Given the description of an element on the screen output the (x, y) to click on. 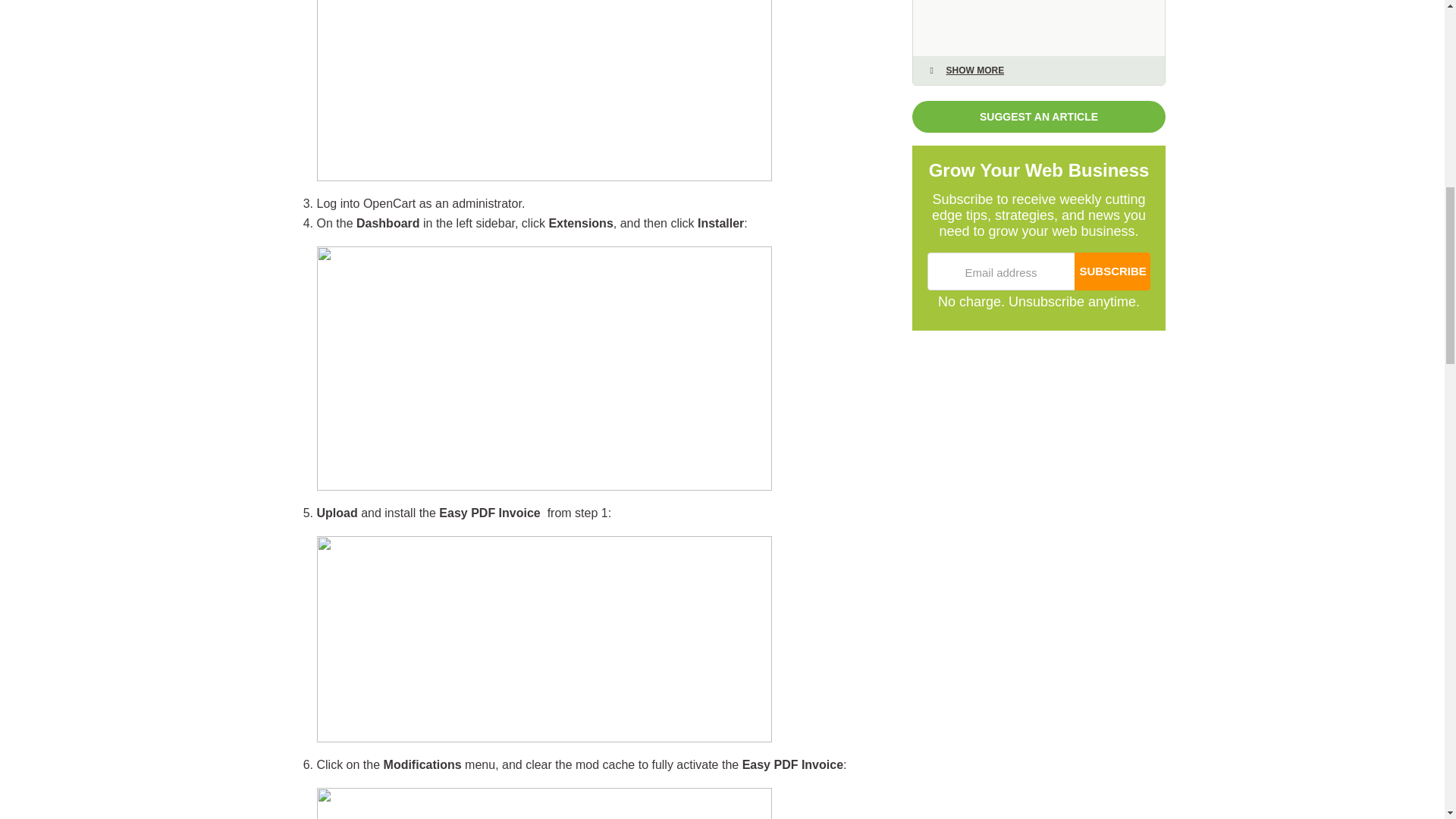
Subscribe (1112, 271)
